Given the description of an element on the screen output the (x, y) to click on. 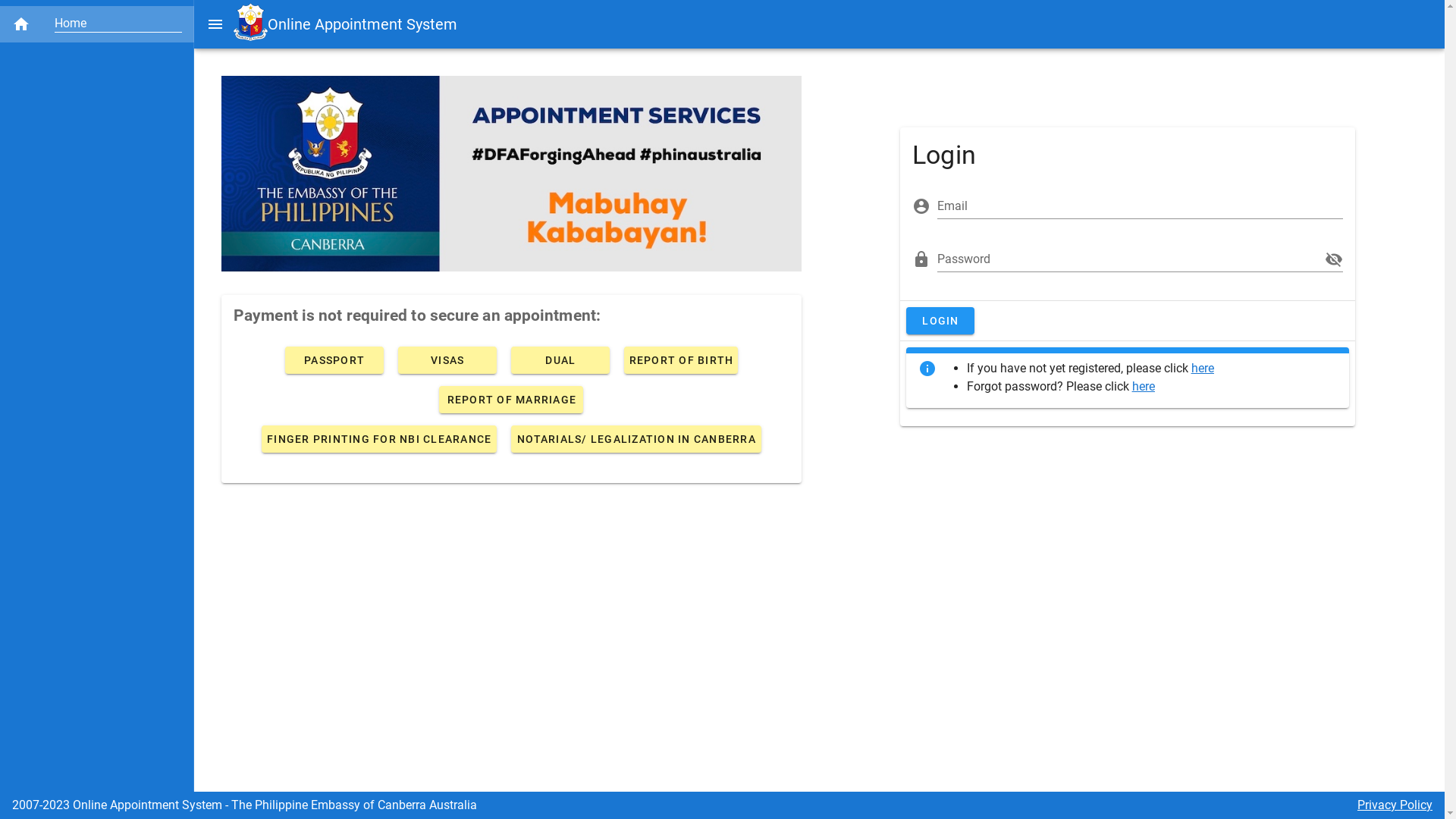
REPORT OF MARRIAGE Element type: text (511, 399)
Privacy Policy Element type: text (1394, 804)
DUAL Element type: text (560, 359)
NOTARIALS/ LEGALIZATION IN CANBERRA Element type: text (636, 438)
FINGER PRINTING FOR NBI CLEARANCE Element type: text (378, 438)
LOGIN Element type: text (940, 320)
REPORT OF BIRTH Element type: text (680, 359)
PASSPORT Element type: text (334, 359)
Home Element type: text (97, 24)
here Element type: text (1202, 367)
here Element type: text (1143, 386)
VISAS Element type: text (447, 359)
